Given the description of an element on the screen output the (x, y) to click on. 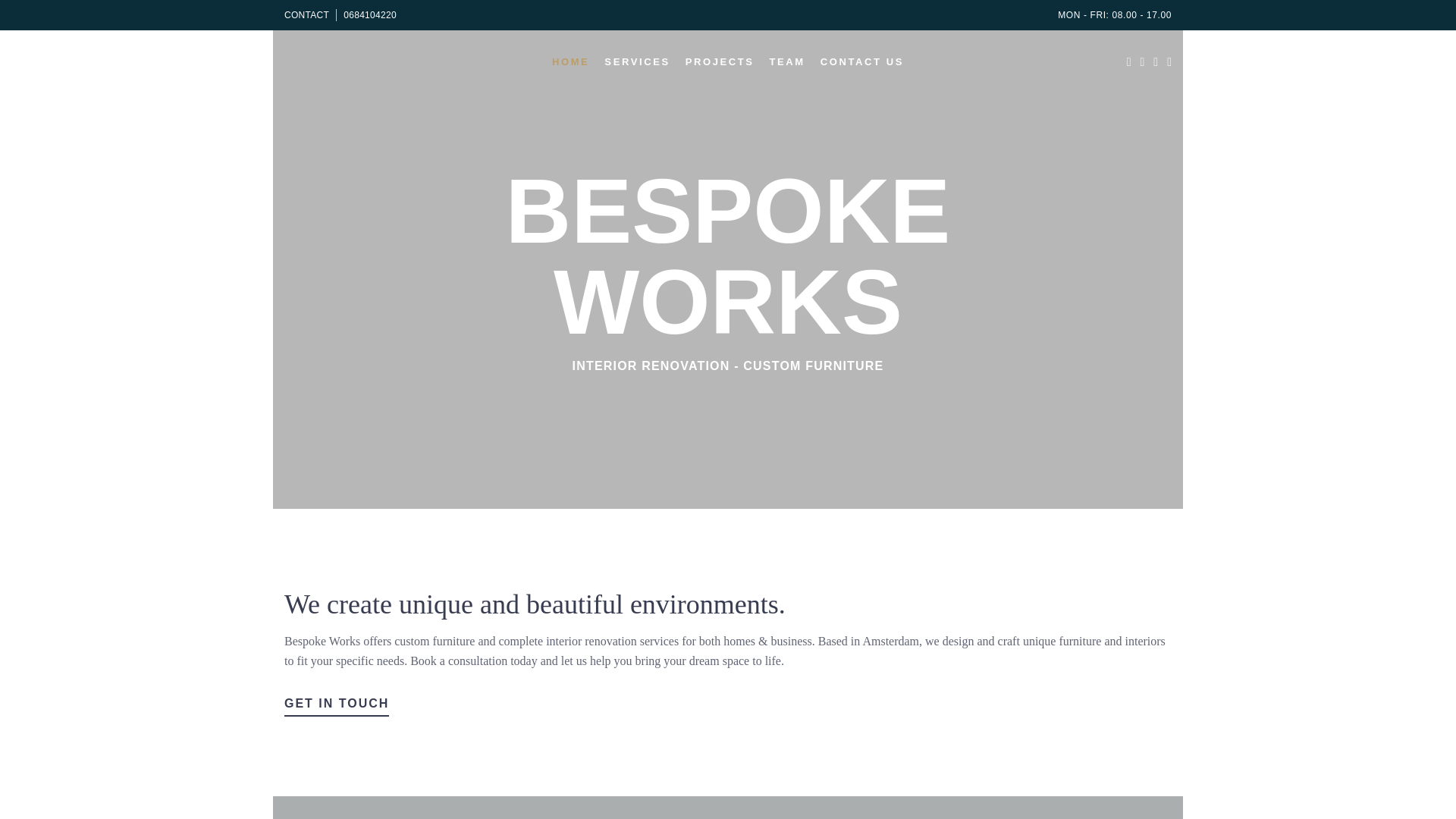
GET IN TOUCH (335, 704)
HOME (570, 61)
PROJECTS (719, 61)
SERVICES (636, 61)
CONTACT US (861, 61)
TEAM (786, 61)
CONTACT (306, 15)
0684104220 (369, 15)
